Given the description of an element on the screen output the (x, y) to click on. 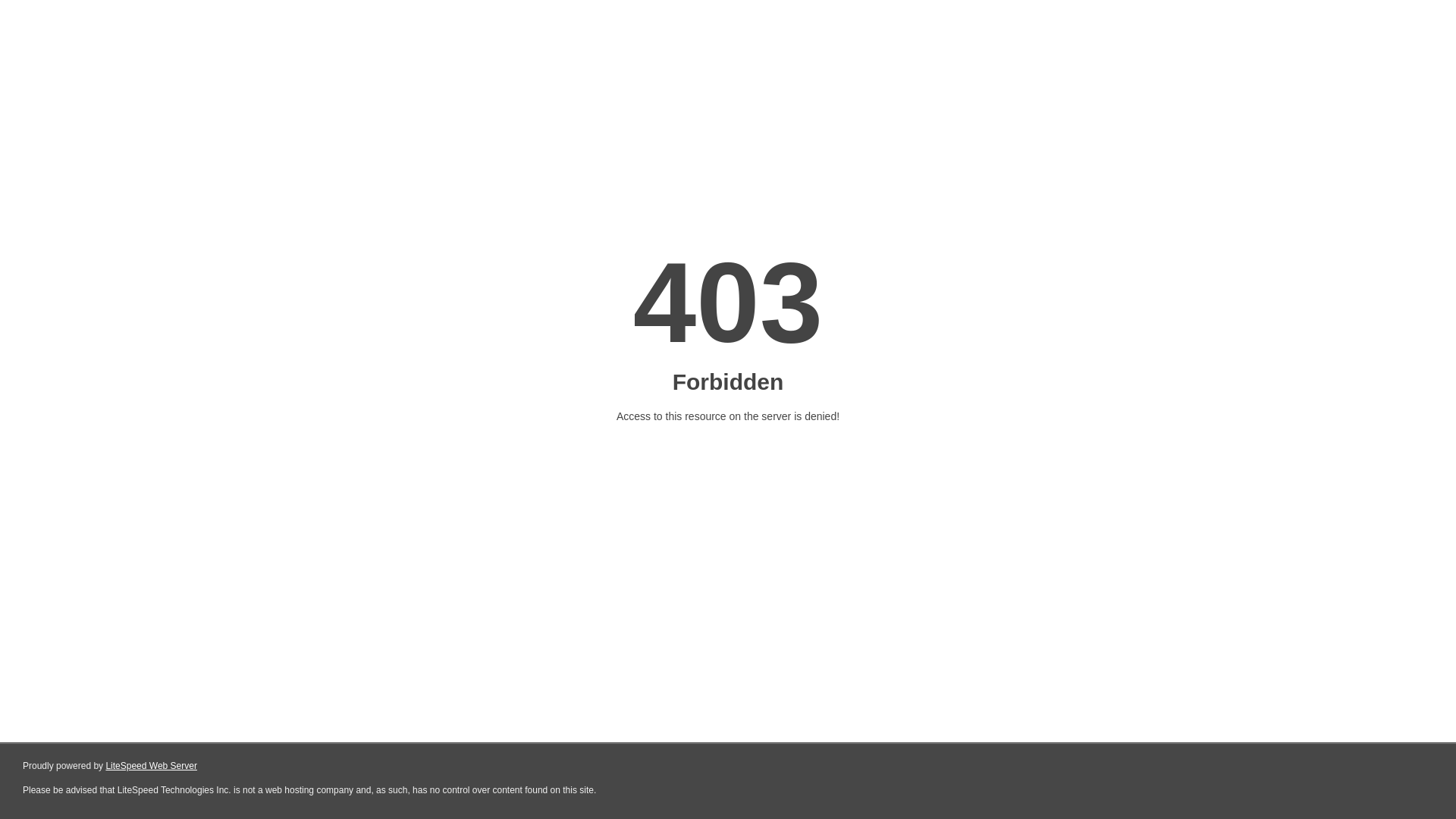
LiteSpeed Web Server Element type: text (151, 765)
